Given the description of an element on the screen output the (x, y) to click on. 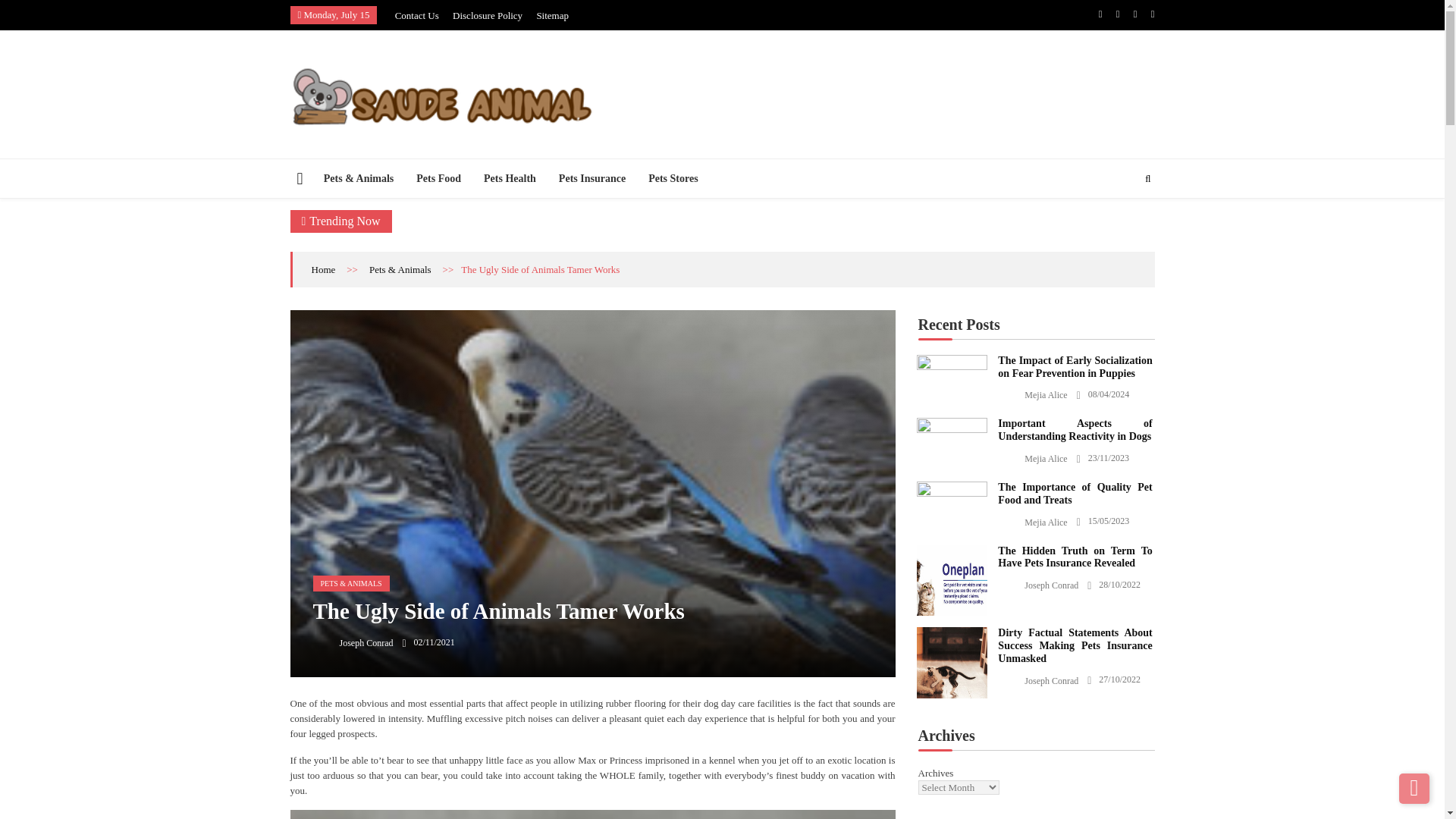
Home (322, 269)
Pets Stores (673, 178)
The Ugly Side of Animals Tamer Works (592, 814)
Pets Food (437, 178)
Important Aspects of Understanding Reactivity in Dogs (951, 427)
Search (1122, 224)
Contact Us (416, 15)
Disclosure Policy (487, 15)
The Importance of Quality Pet Food and Treats (951, 491)
Pets Health (509, 178)
Pets Insurance (592, 178)
Saude Animal (338, 150)
Sitemap (552, 15)
The Hidden Truth on Term To Have Pets Insurance Revealed (951, 580)
